Given the description of an element on the screen output the (x, y) to click on. 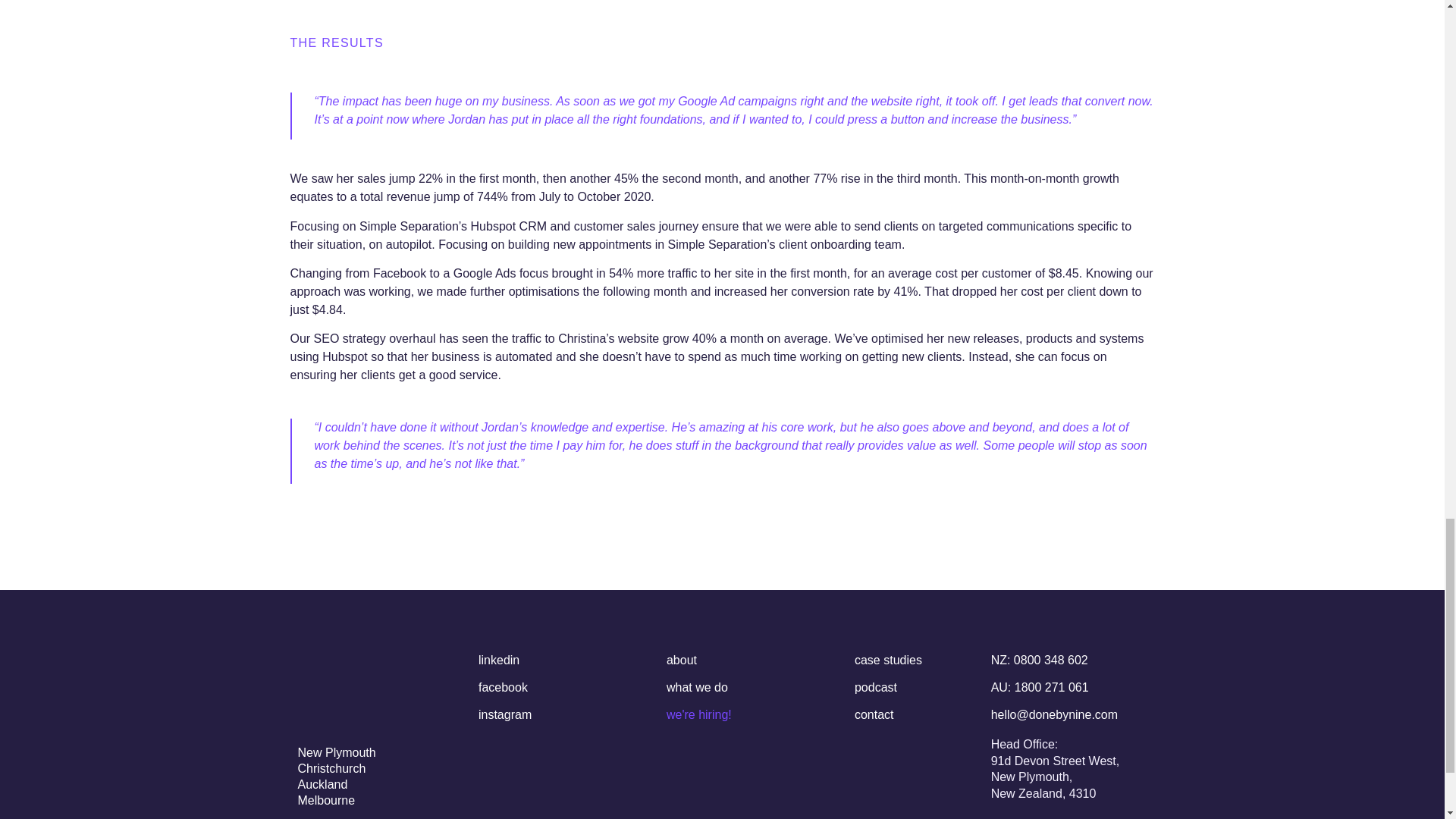
instagram (505, 714)
what we do (697, 686)
New Plymouth (336, 752)
case studies (887, 659)
Melbourne (326, 799)
Auckland (322, 784)
AU: 1800 271 061 (1040, 686)
linkedin (499, 659)
NZ: 0800 348 602 (1039, 659)
podcast (875, 686)
